Given the description of an element on the screen output the (x, y) to click on. 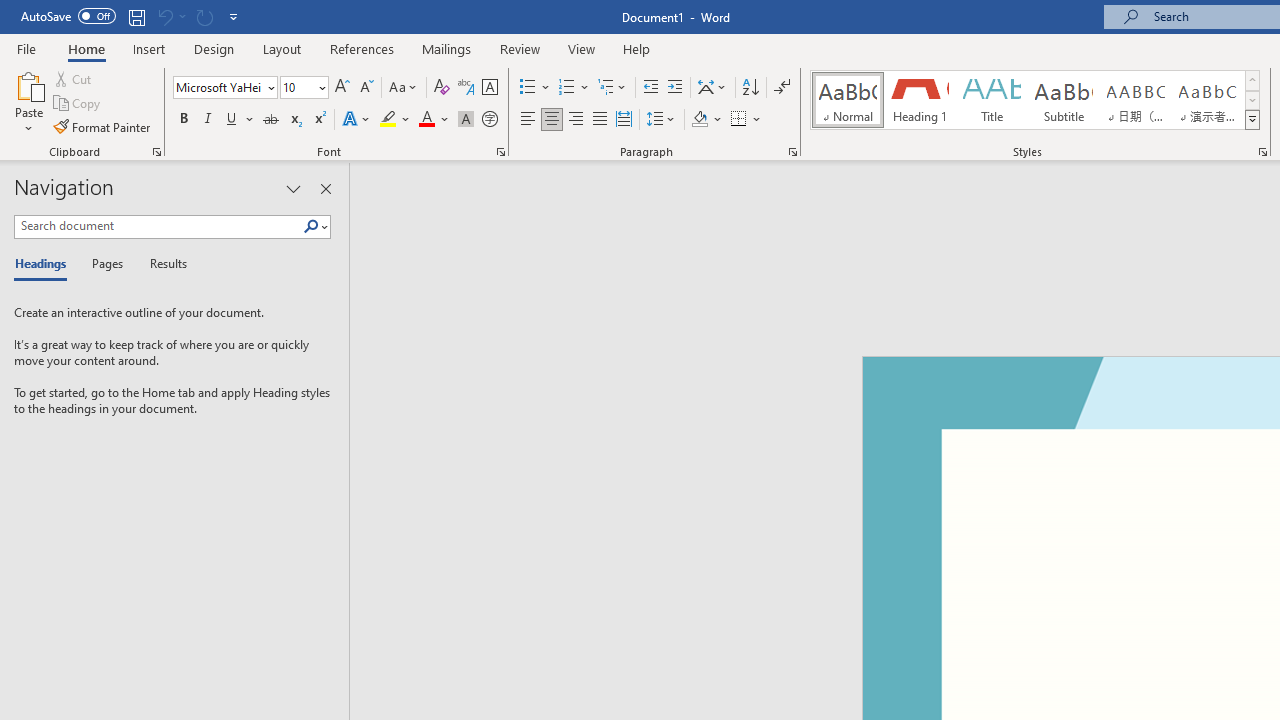
Grow Font (342, 87)
Show/Hide Editing Marks (781, 87)
Copy (78, 103)
Paragraph... (792, 151)
Customize Quick Access Toolbar (234, 15)
Row Down (1252, 100)
Align Right (575, 119)
Can't Repeat (204, 15)
Change Case (404, 87)
Font... (500, 151)
Can't Undo (164, 15)
Phonetic Guide... (465, 87)
Results (161, 264)
